Given the description of an element on the screen output the (x, y) to click on. 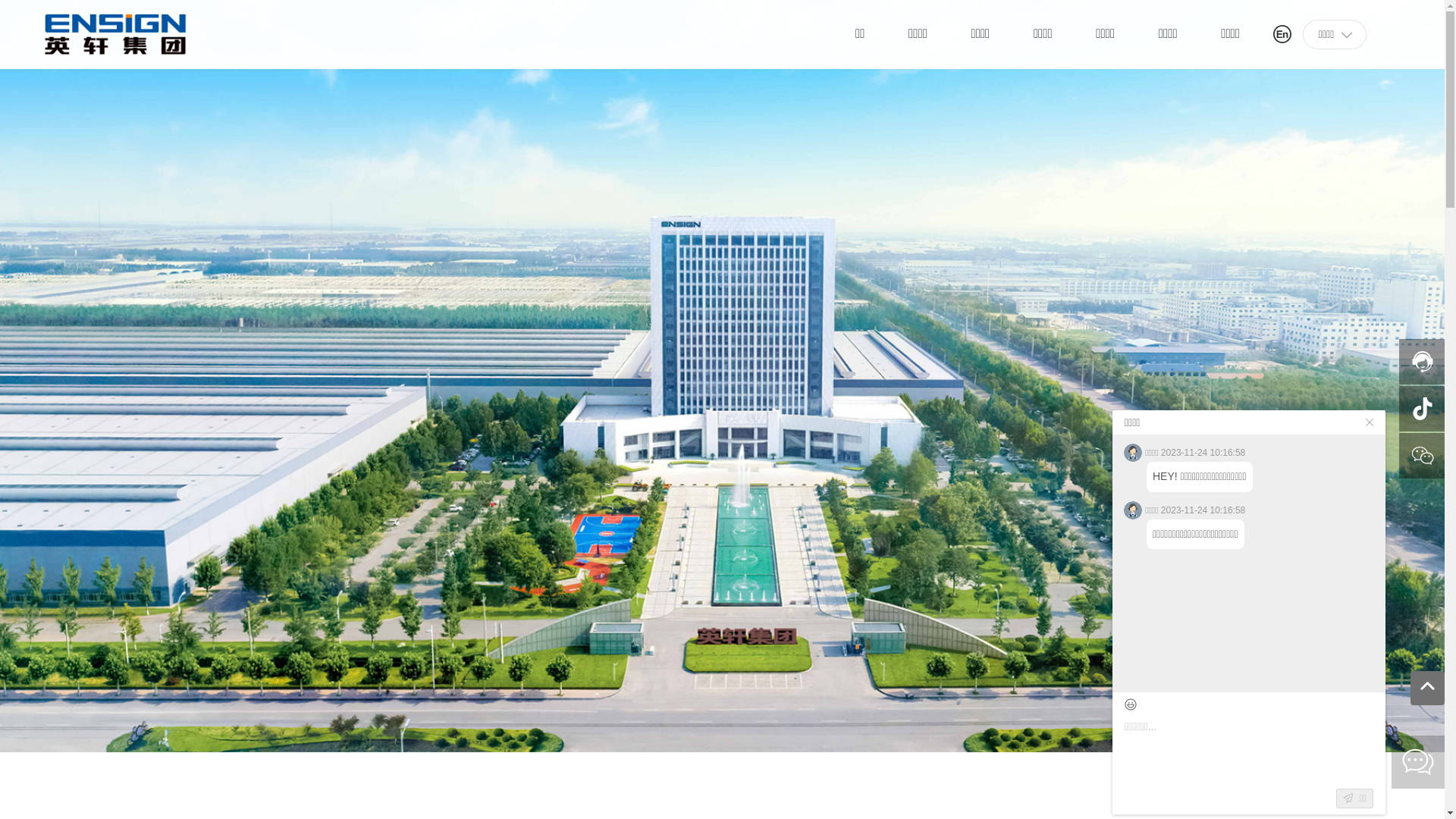
ENGLISH Element type: hover (1282, 33)
